Given the description of an element on the screen output the (x, y) to click on. 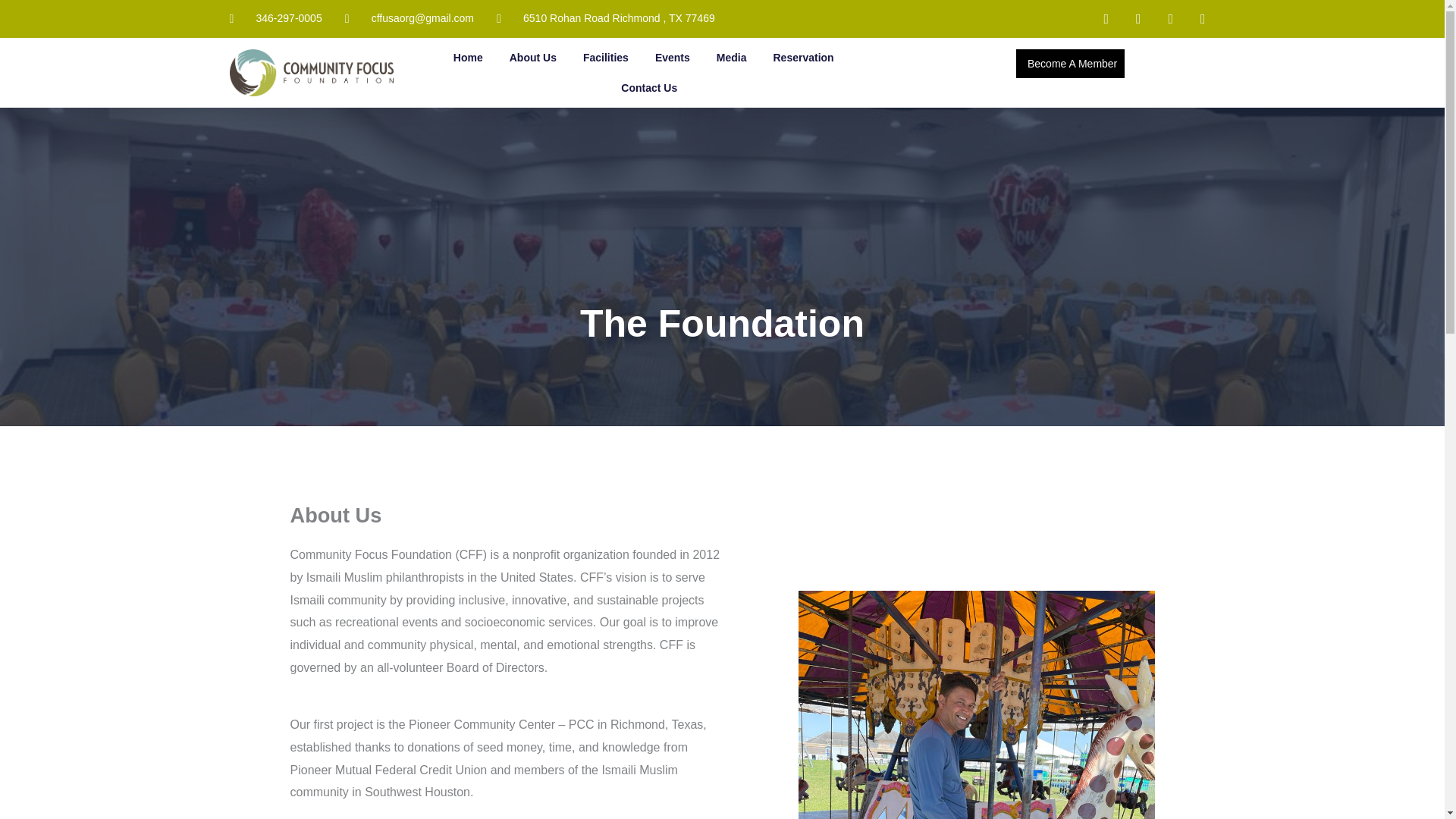
Events (672, 57)
Home (467, 57)
Facilities (605, 57)
Reservation (803, 57)
Contact Us (648, 87)
Media (731, 57)
About Us (533, 57)
